Given the description of an element on the screen output the (x, y) to click on. 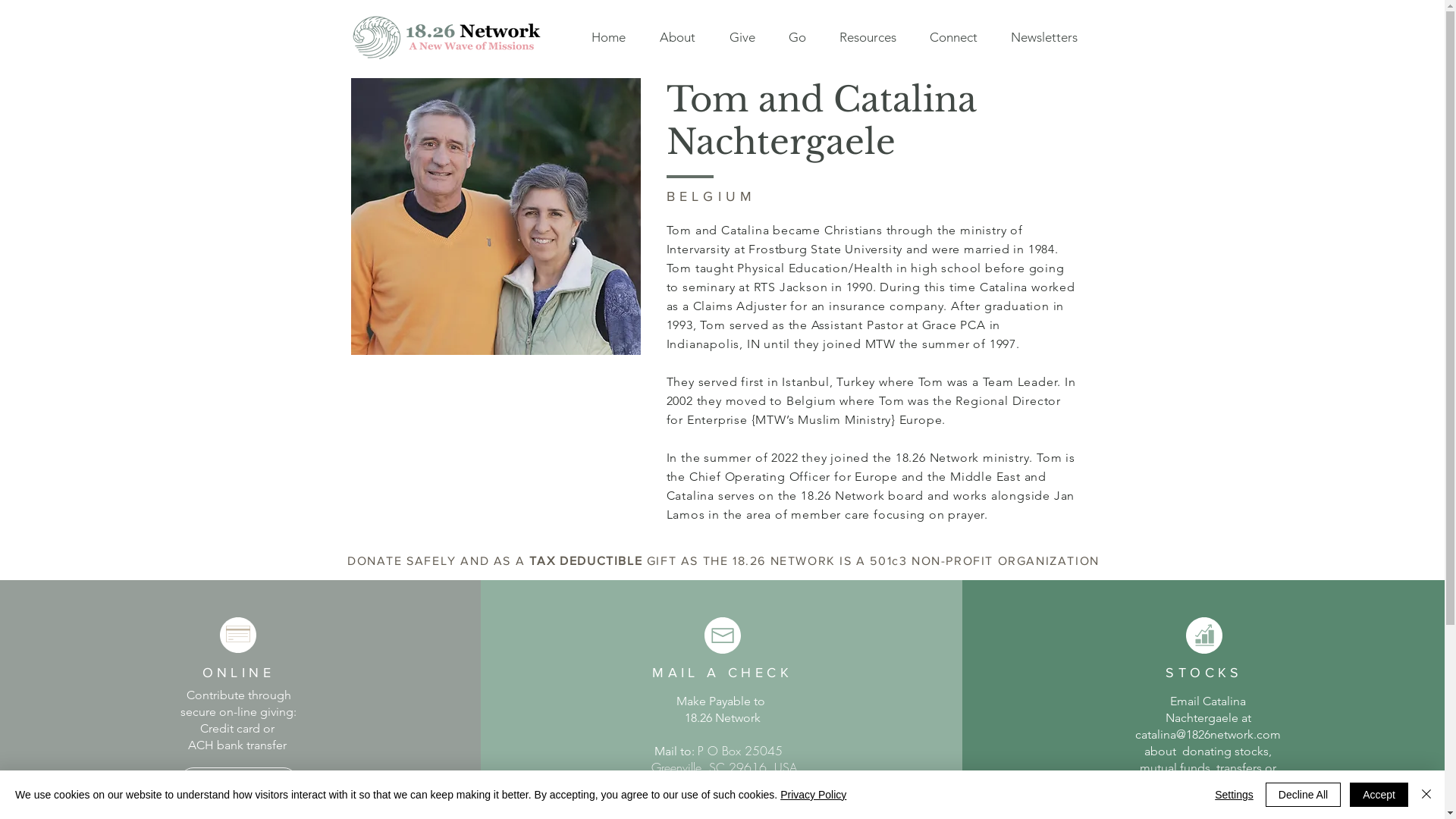
CLICK HERE Element type: text (238, 780)
Give Element type: text (741, 37)
Newsletters Element type: text (1043, 37)
catalina@1826network.com Element type: text (1207, 734)
Home Element type: text (608, 37)
About Element type: text (677, 37)
Tom and Catalina Nachtergaele  Element type: hover (495, 216)
Decline All Element type: text (1302, 794)
Resources Element type: text (867, 37)
Connect Element type: text (953, 37)
Accept Element type: text (1378, 794)
Go Element type: text (796, 37)
Privacy Policy Element type: text (813, 794)
